Given the description of an element on the screen output the (x, y) to click on. 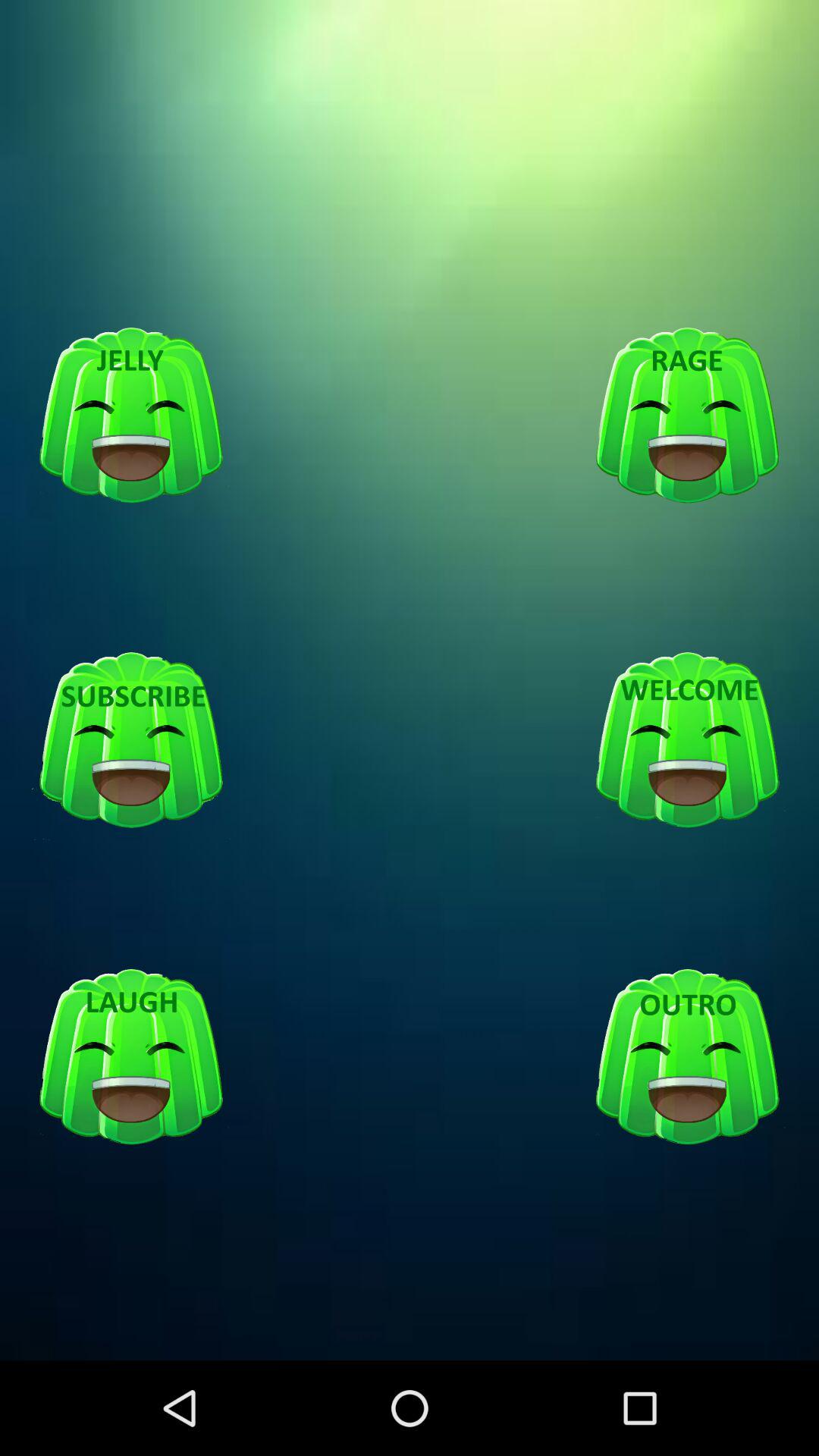
click the item at the top left corner (130, 415)
